Given the description of an element on the screen output the (x, y) to click on. 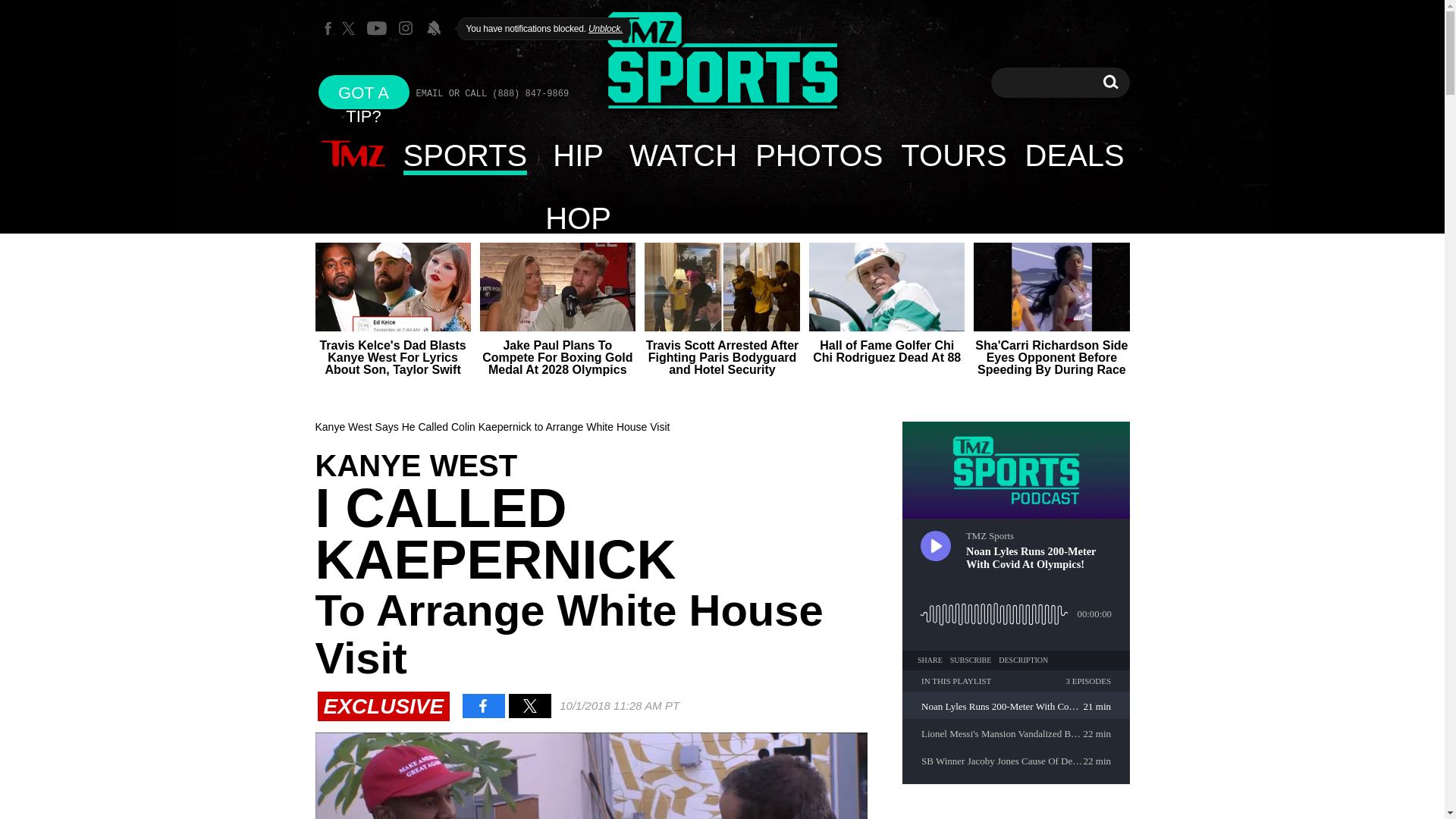
WATCH (682, 154)
GOT A TIP? (363, 91)
TMZ Sports (722, 60)
Search (1110, 81)
SPORTS (465, 154)
HIP HOP (577, 154)
PHOTOS (818, 154)
NEWS (353, 154)
TOURS (952, 154)
